Given the description of an element on the screen output the (x, y) to click on. 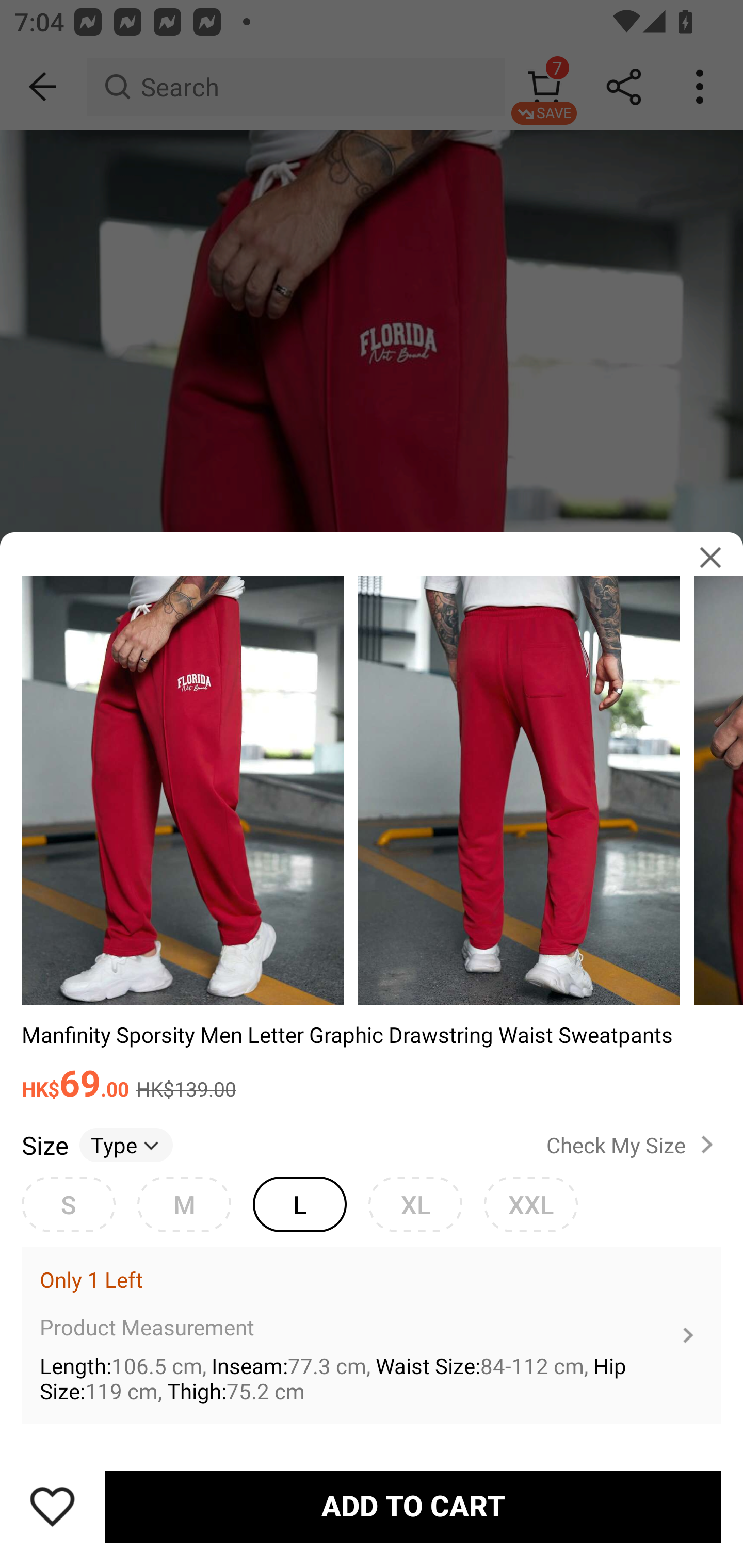
Size (44, 1144)
Type (126, 1144)
Check My Size (633, 1144)
S (68, 1204)
M (184, 1204)
L Lselected option (299, 1204)
XL (415, 1204)
XXL (530, 1204)
ADD TO CART (412, 1506)
Save (52, 1505)
